Given the description of an element on the screen output the (x, y) to click on. 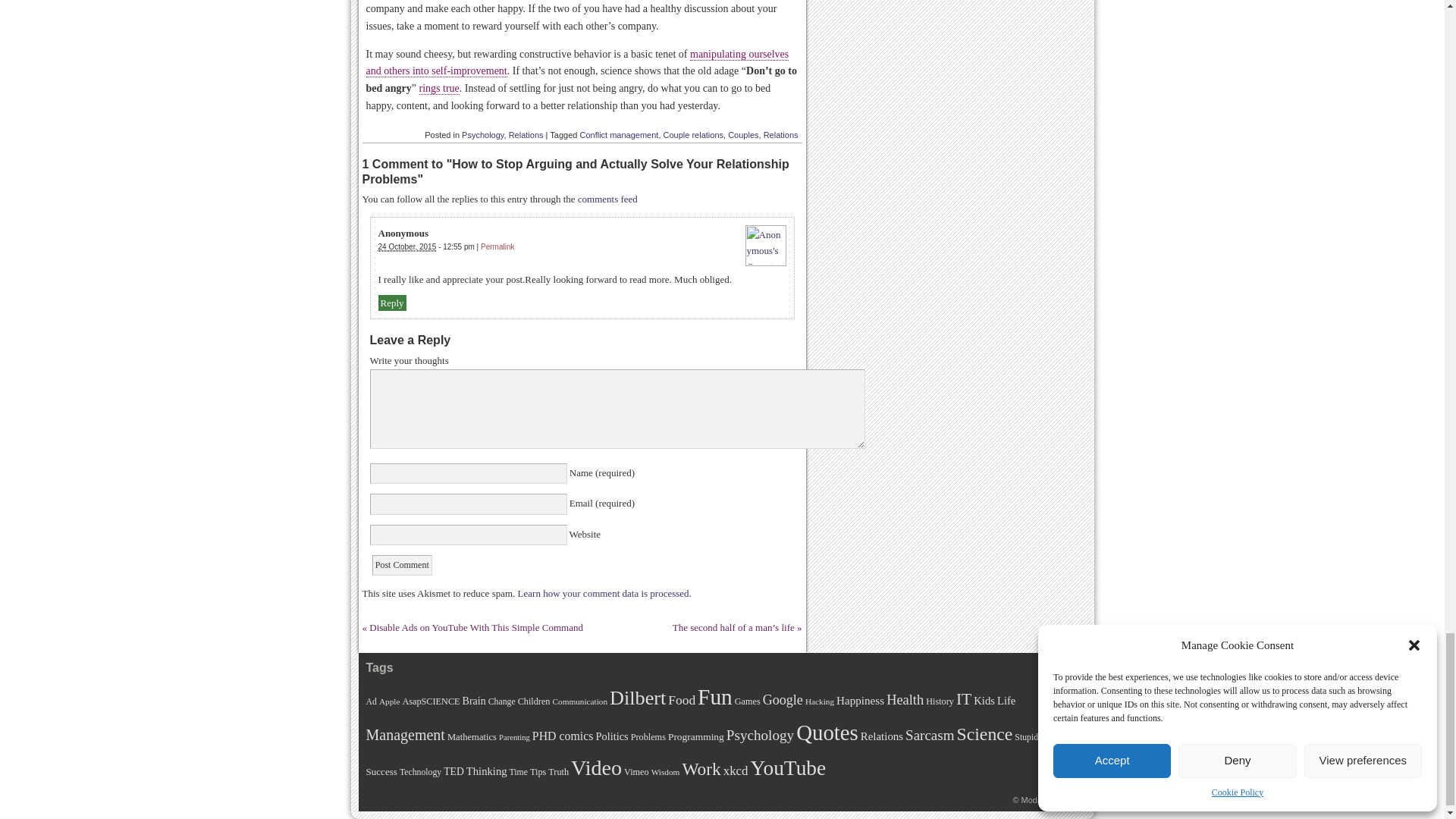
Permalink to this comment (496, 246)
24 October, 2015 (406, 246)
Some personal and shared stuff (1047, 799)
Post Comment (402, 565)
